Given the description of an element on the screen output the (x, y) to click on. 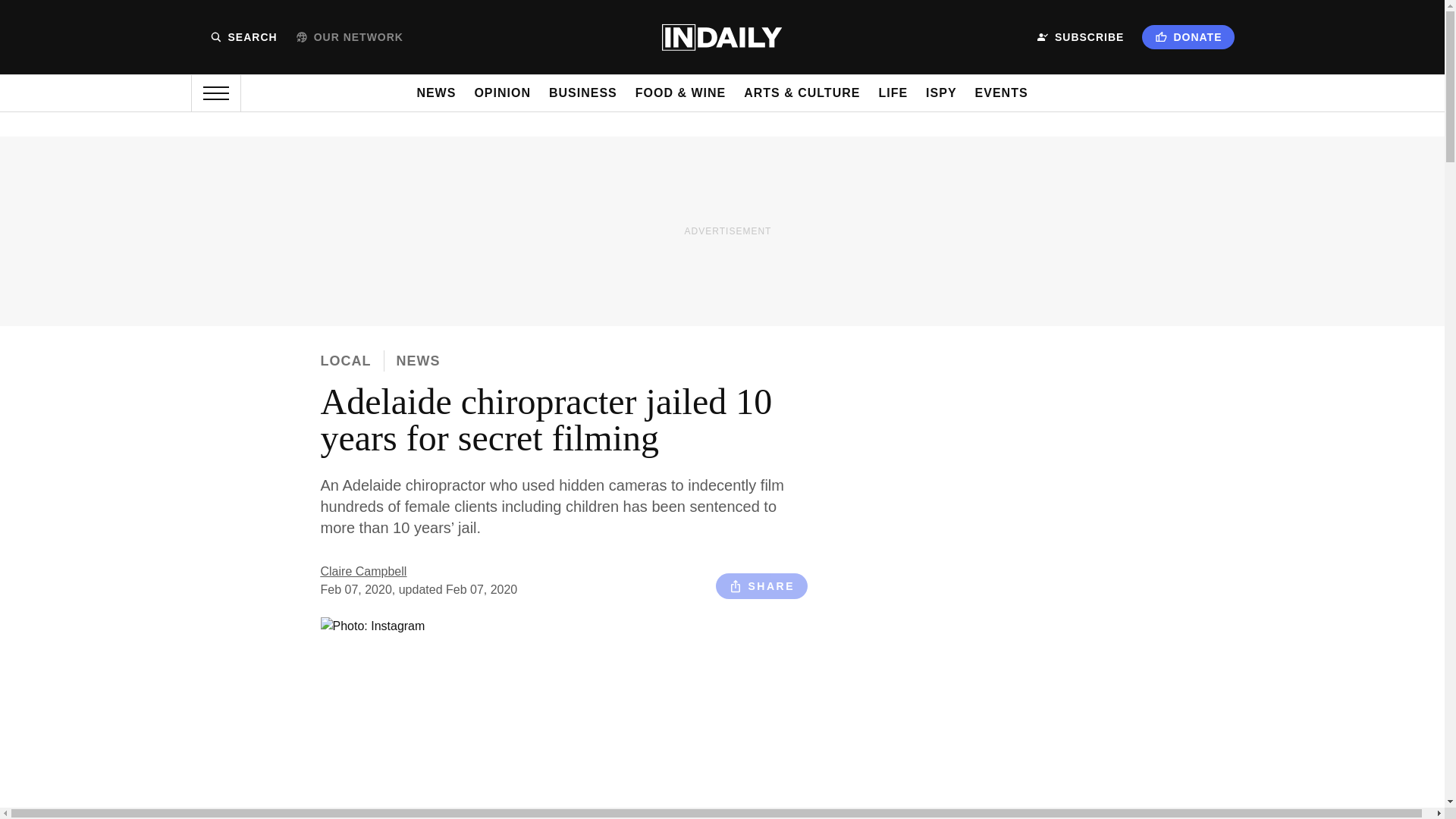
SEARCH (242, 37)
OPINION (502, 92)
Claire Campbell (363, 571)
BUSINESS (582, 92)
ISPY (941, 92)
LOCAL (345, 360)
NEWS (417, 360)
LIFE (892, 92)
SHARE (762, 585)
OUR NETWORK (349, 37)
NEWS (435, 92)
SUBSCRIBE (1080, 37)
EVENTS (1001, 92)
DONATE (1187, 37)
